Given the description of an element on the screen output the (x, y) to click on. 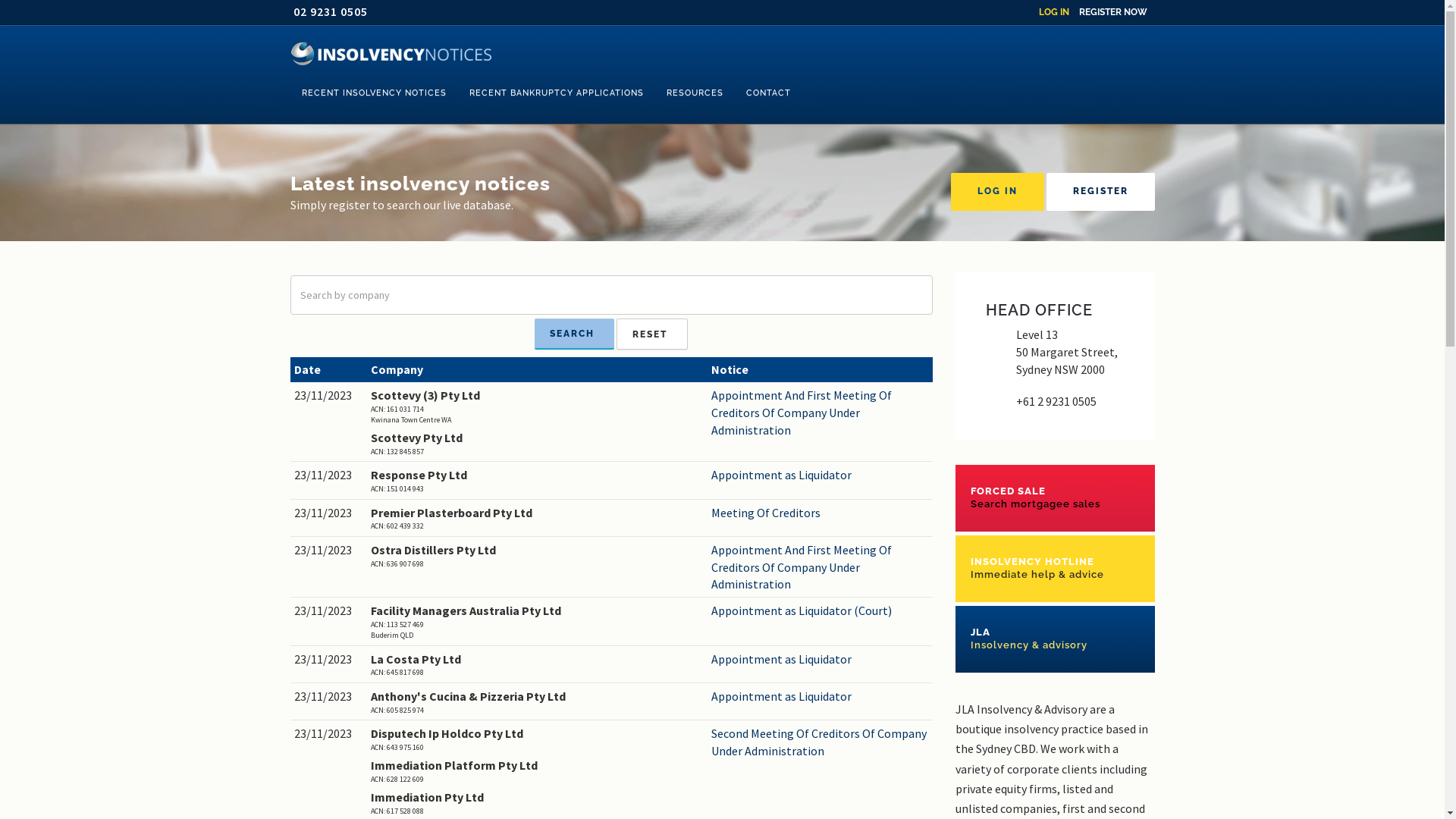
Second Meeting Of Creditors Of Company Under Administration Element type: text (819, 741)
23/11/2023 Element type: text (329, 733)
FORCED SALE  
Search mortgagee sales Element type: text (1054, 497)
LOG IN Element type: text (1053, 11)
RECENT BANKRUPTCY APPLICATIONS Element type: text (556, 92)
23/11/2023 Element type: text (329, 549)
Meeting Of Creditors Element type: text (819, 512)
Response Pty Ltd
ACN: 151 014 943 Element type: text (536, 480)
23/11/2023 Element type: text (329, 512)
Appointment as Liquidator Element type: text (819, 474)
REGISTER NOW Element type: text (1112, 11)
INSOLVENCY HOTLINE  
Immediate help & advice Element type: text (1054, 568)
23/11/2023 Element type: text (329, 474)
La Costa Pty Ltd
ACN: 645 817 698 Element type: text (536, 664)
REGISTER Element type: text (1100, 191)
Anthony's Cucina & Pizzeria Pty Ltd
ACN: 605 825 974 Element type: text (536, 701)
RESOURCES Element type: text (694, 92)
23/11/2023 Element type: text (329, 610)
Appointment as Liquidator Element type: text (819, 696)
23/11/2023 Element type: text (329, 696)
JLA  
Insolvency & advisory Element type: text (1054, 638)
23/11/2023 Element type: text (329, 395)
LOG IN Element type: text (997, 191)
23/11/2023 Element type: text (329, 659)
Premier Plasterboard Pty Ltd
ACN: 602 439 332 Element type: text (536, 518)
Ostra Distillers Pty Ltd
ACN: 636 907 698 Element type: text (536, 555)
CONTACT Element type: text (767, 92)
Search Element type: text (574, 333)
RECENT INSOLVENCY NOTICES Element type: text (373, 92)
Appointment as Liquidator (Court) Element type: text (819, 610)
Appointment as Liquidator Element type: text (819, 659)
